Given the description of an element on the screen output the (x, y) to click on. 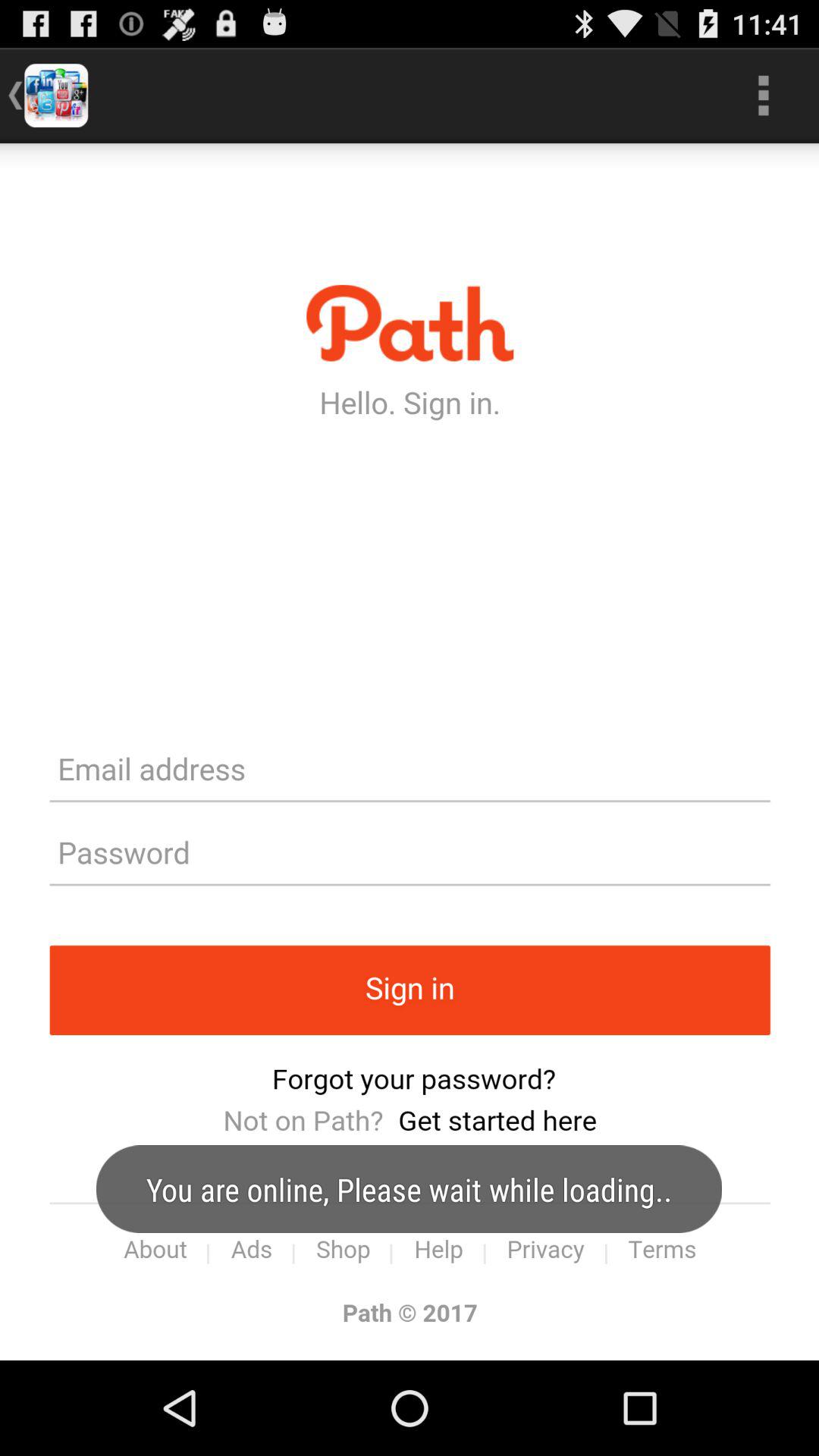
sign in (409, 751)
